Given the description of an element on the screen output the (x, y) to click on. 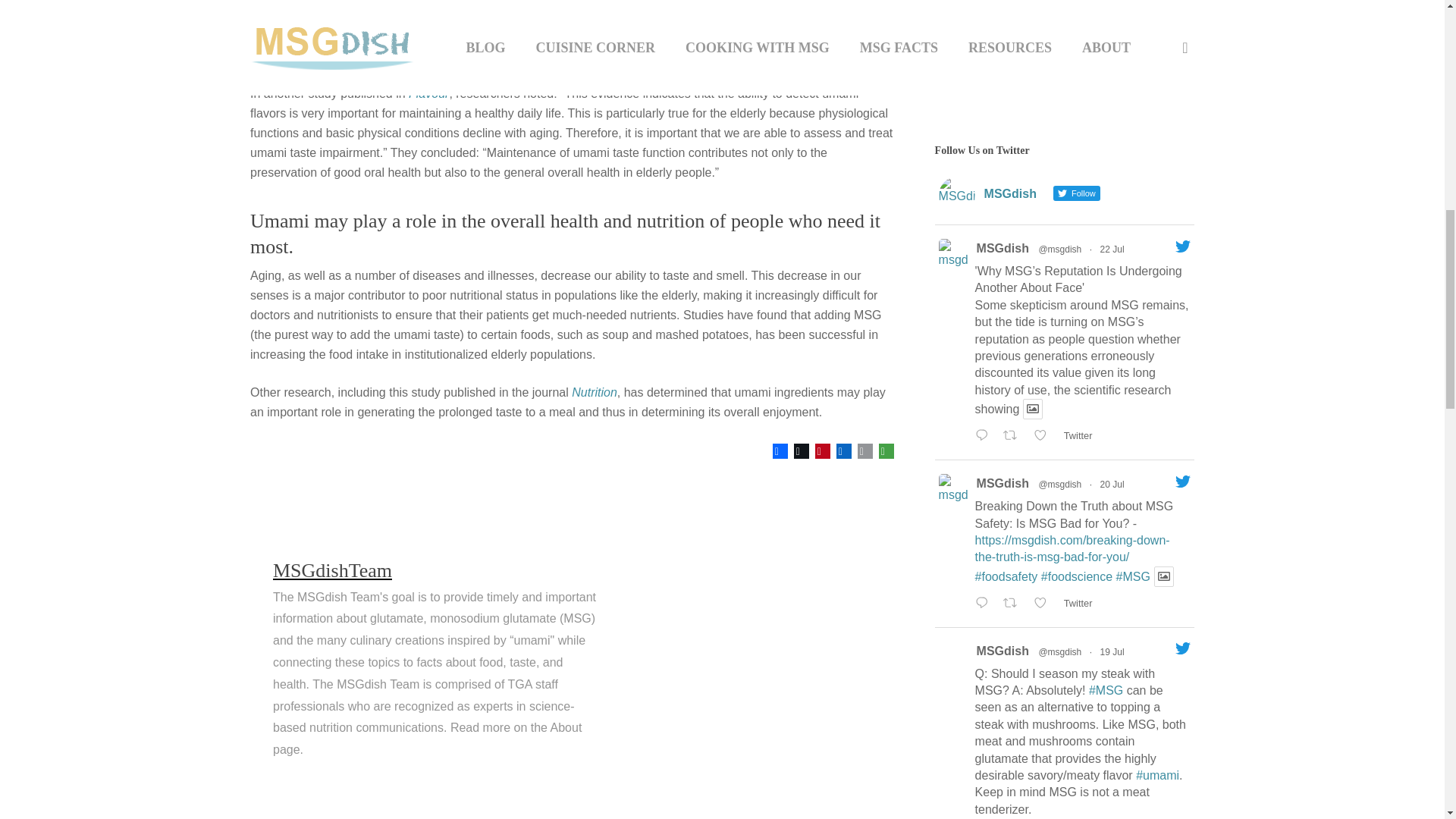
Facebook (780, 450)
Nutrition (594, 391)
Flavour (428, 92)
LinkedIn (843, 450)
Pinterest (822, 450)
Email This (865, 450)
More Options (886, 450)
